Given the description of an element on the screen output the (x, y) to click on. 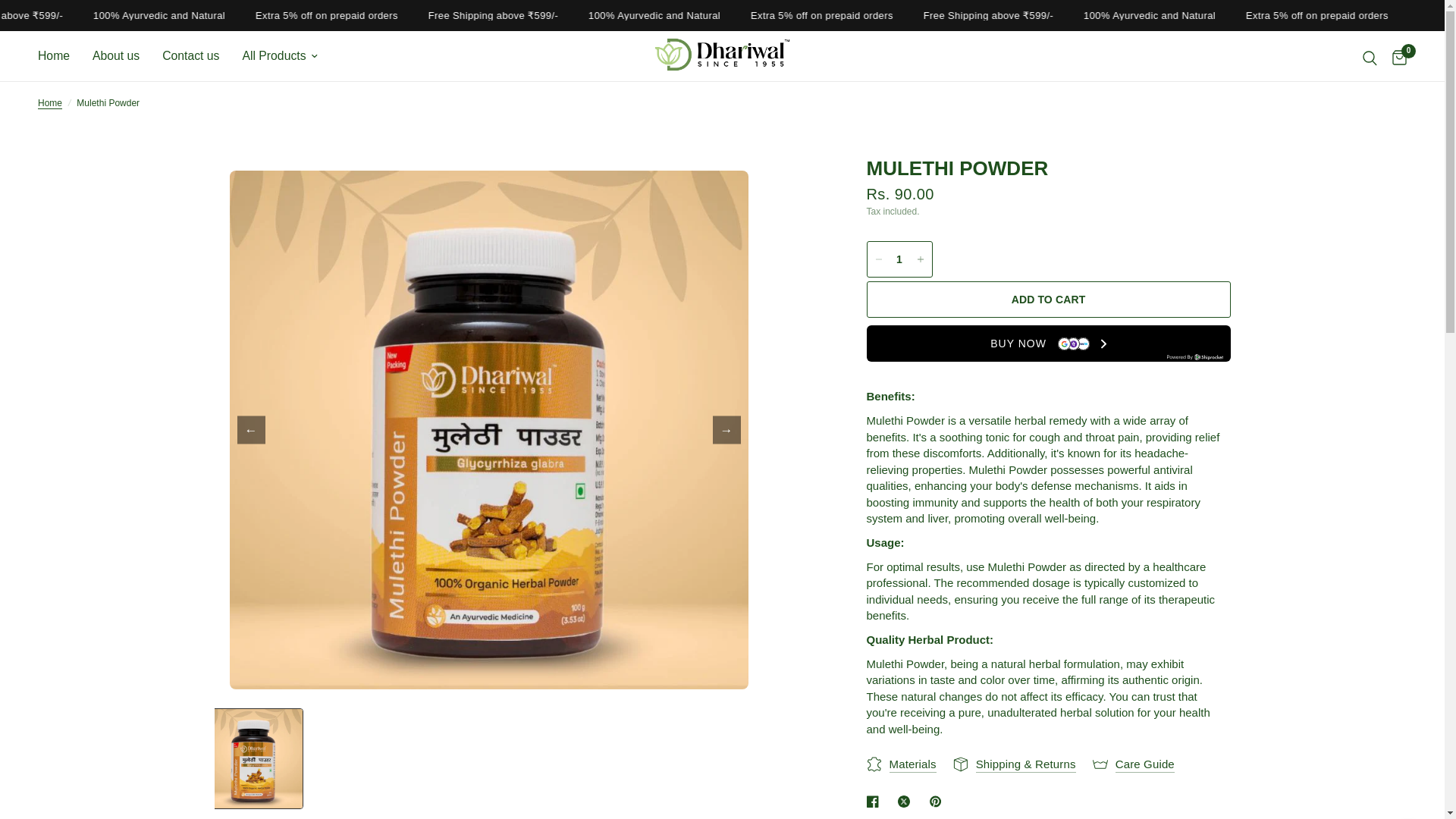
Care Guide (1133, 764)
All Products (279, 55)
Home (53, 55)
About us (116, 55)
Contact us (190, 55)
BUY NOW (1048, 343)
ADD TO CART (1048, 299)
Materials (901, 764)
Home (49, 103)
Home (49, 103)
